Given the description of an element on the screen output the (x, y) to click on. 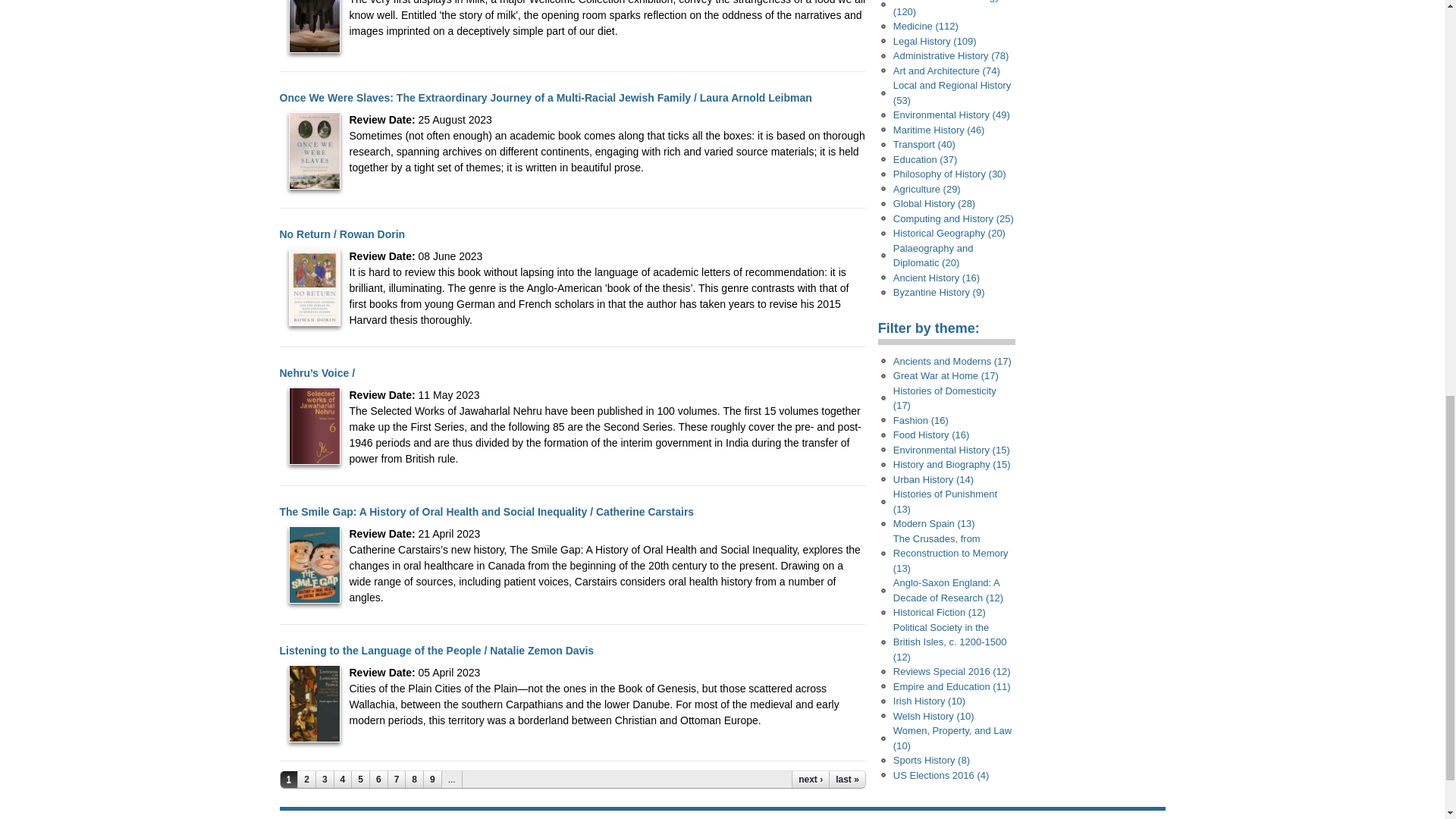
8 (414, 779)
6 (378, 779)
2 (306, 779)
4 (343, 779)
7 (397, 779)
5 (360, 779)
9 (432, 779)
3 (324, 779)
